Given the description of an element on the screen output the (x, y) to click on. 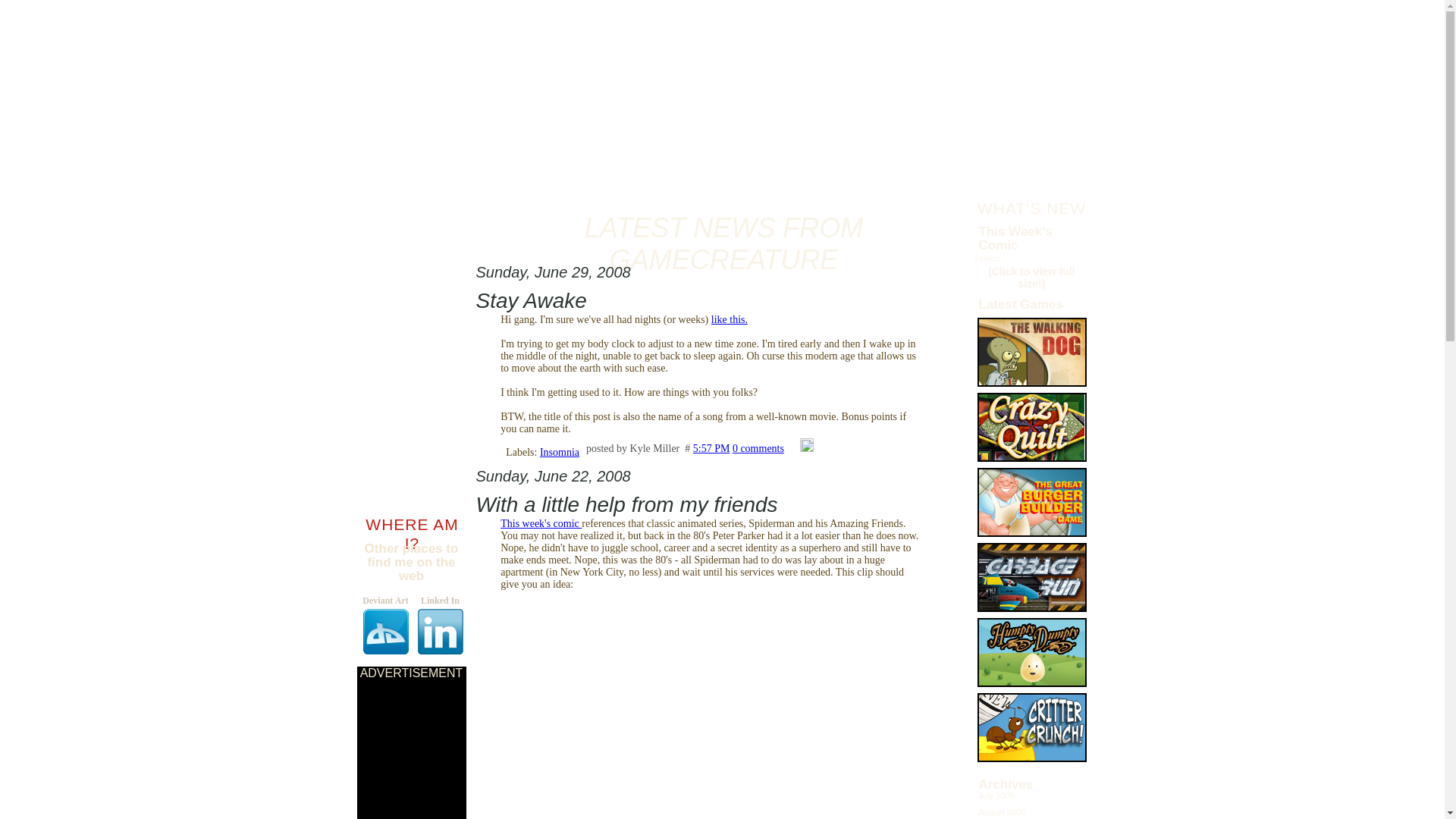
0 comments (758, 448)
Deviant Art (383, 624)
Linked In (438, 624)
Insomnia (559, 451)
Edit Post (806, 448)
permanent link (711, 448)
Email Post (792, 448)
Advertisement (411, 749)
